Given the description of an element on the screen output the (x, y) to click on. 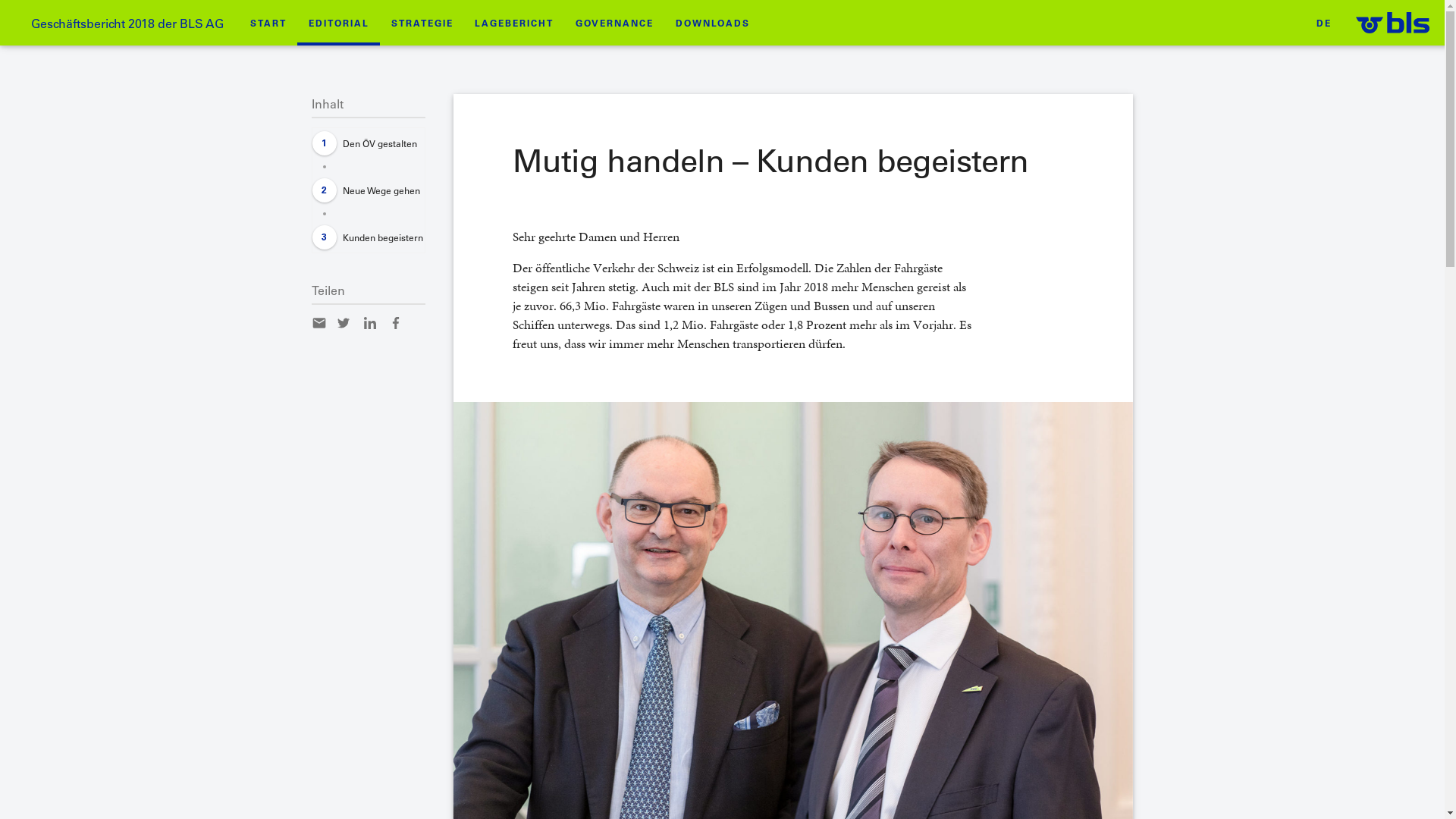
DOWNLOADS Element type: text (712, 22)
START Element type: text (268, 22)
GOVERNANCE Element type: text (614, 22)
LAGEBERICHT Element type: text (514, 22)
Neue Wege gehen Element type: text (368, 190)
Suche Element type: text (45, 12)
EDITORIAL Element type: text (338, 22)
Kunden begeistern Element type: text (368, 237)
STRATEGIE Element type: text (421, 22)
DE Element type: text (1323, 22)
